Given the description of an element on the screen output the (x, y) to click on. 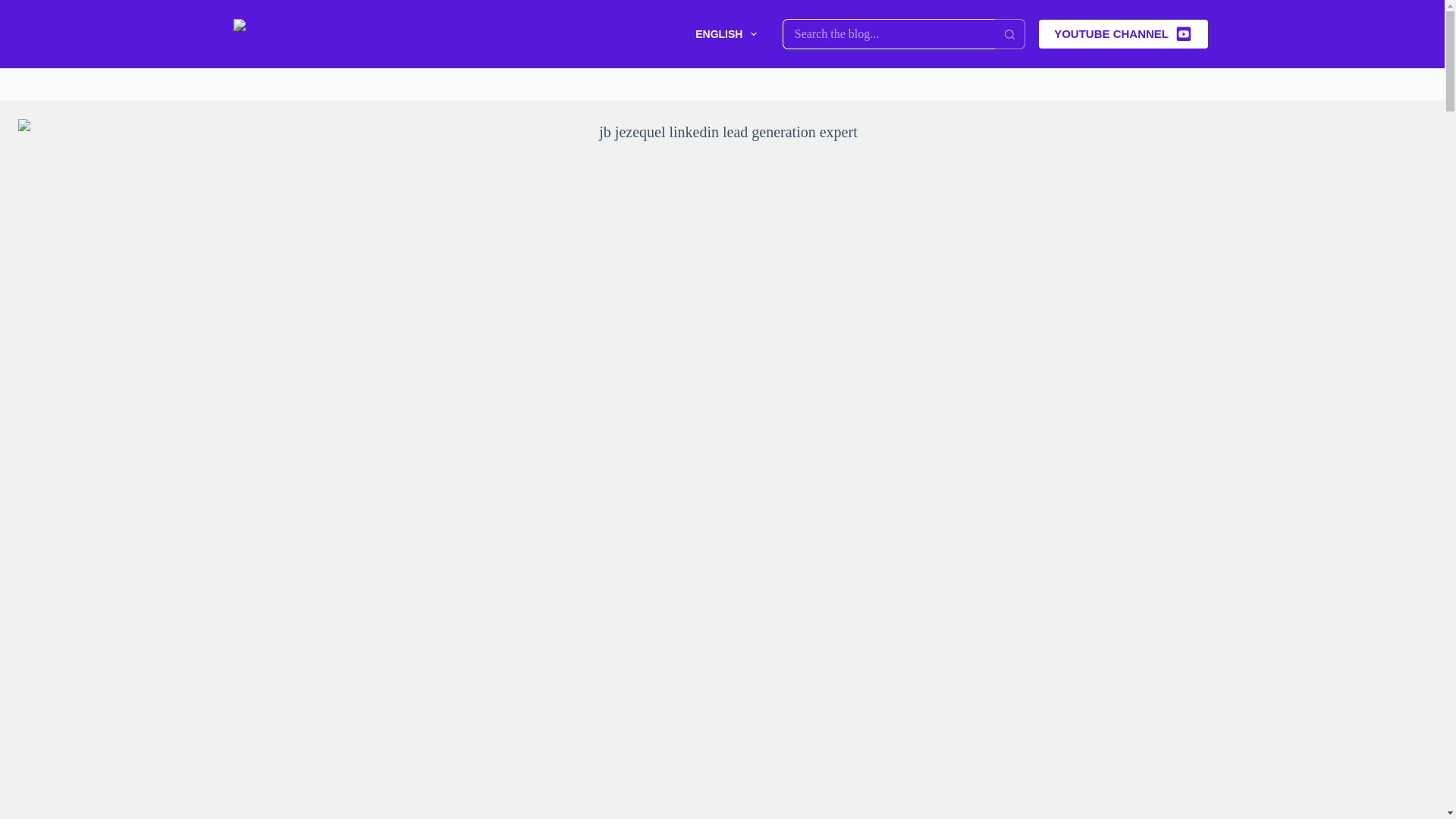
Skip to content (15, 7)
Search for... (888, 33)
YOUTUBE CHANNEL (1122, 33)
English (718, 33)
ENGLISH (718, 33)
